Given the description of an element on the screen output the (x, y) to click on. 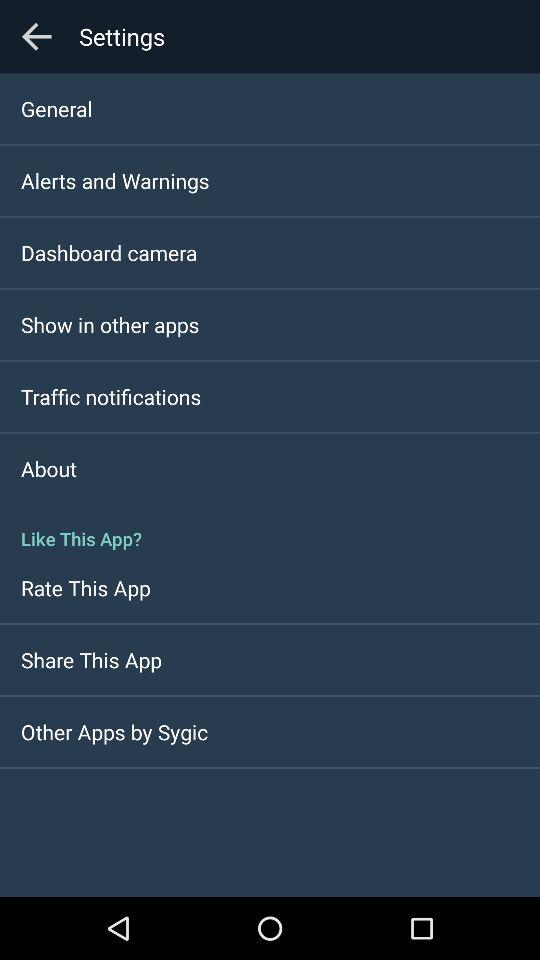
choose app below show in other icon (111, 396)
